Given the description of an element on the screen output the (x, y) to click on. 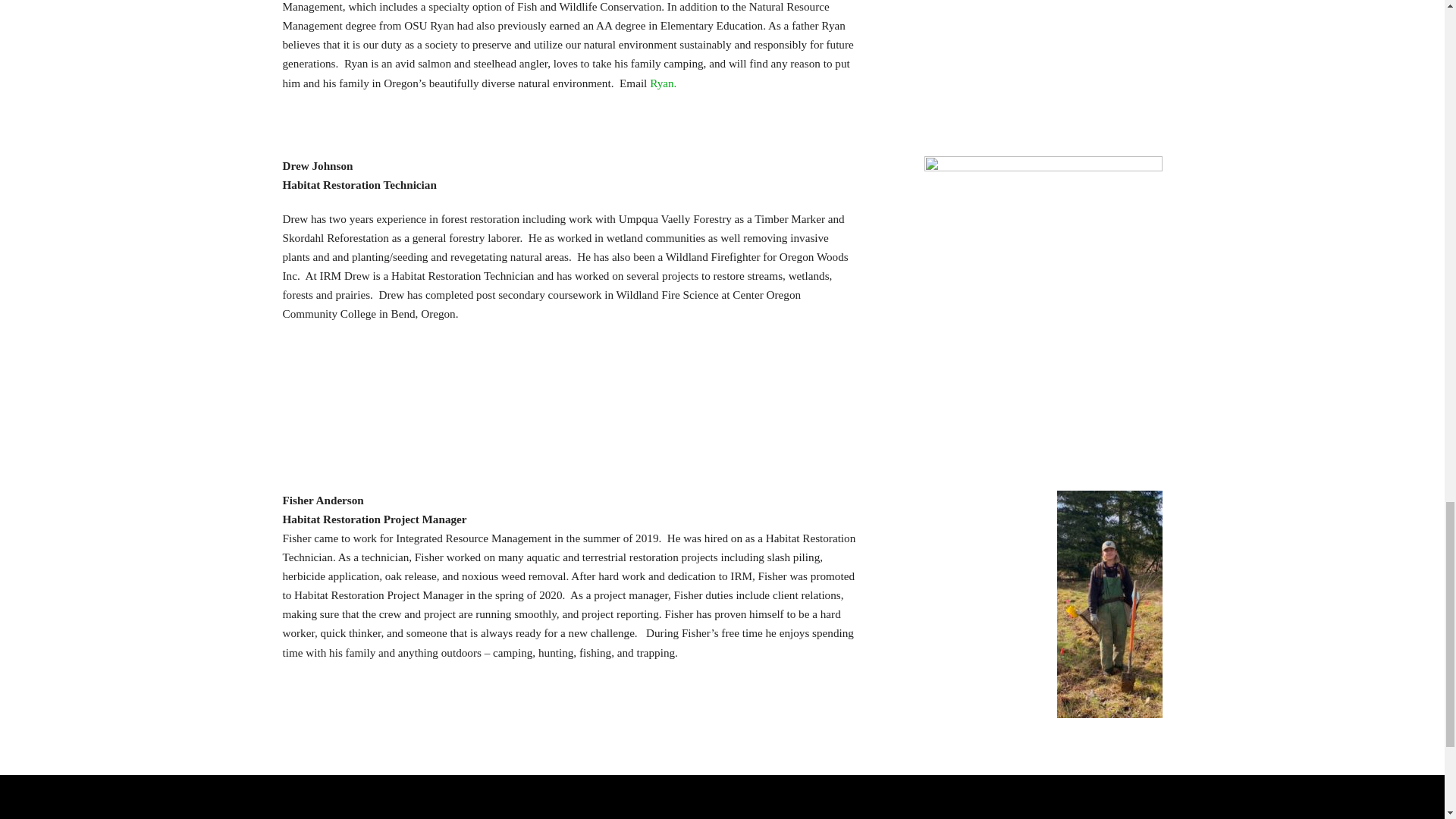
Integrated Resource Management (381, 817)
